Given the description of an element on the screen output the (x, y) to click on. 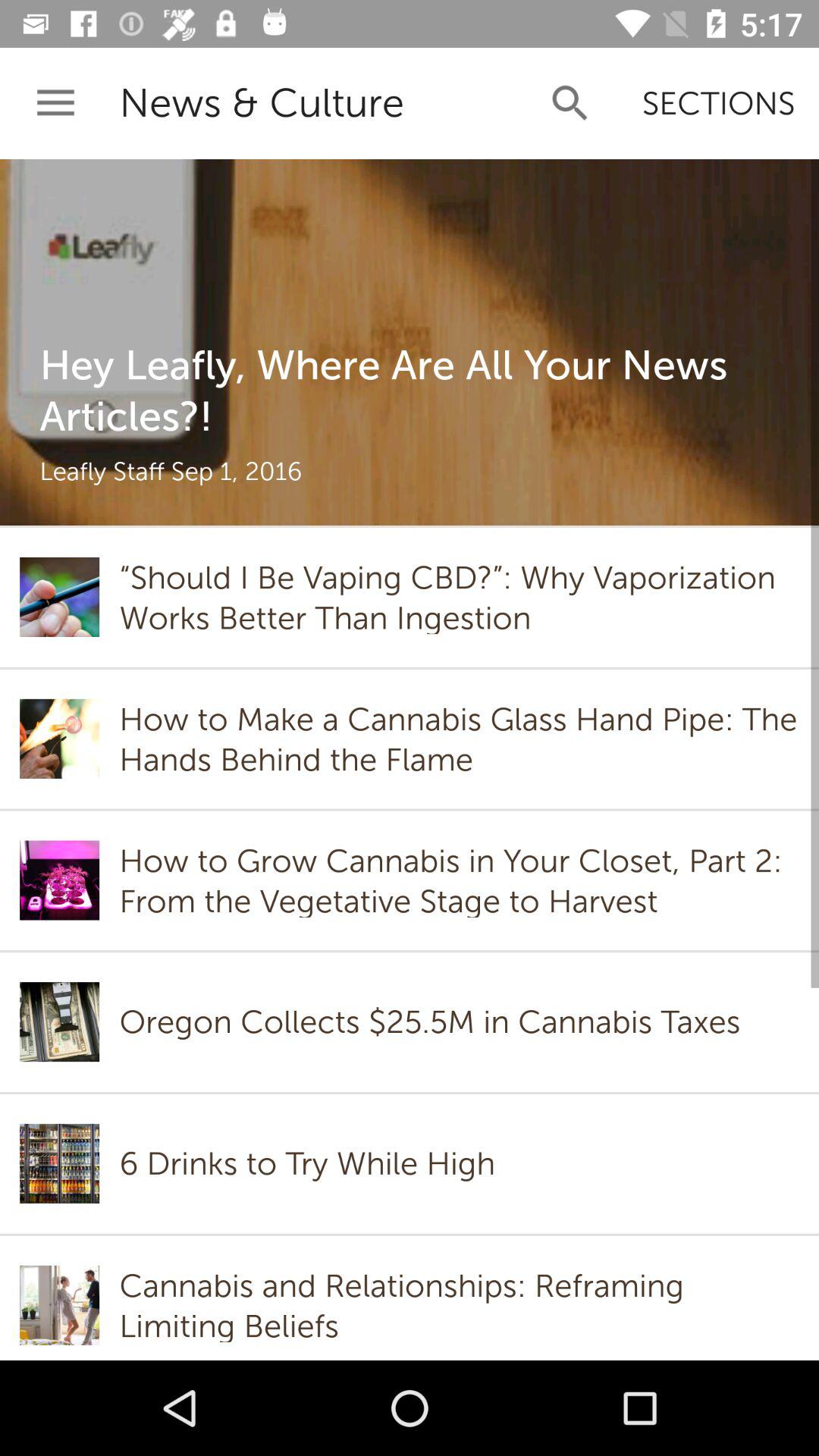
flip to should i be (459, 597)
